Given the description of an element on the screen output the (x, y) to click on. 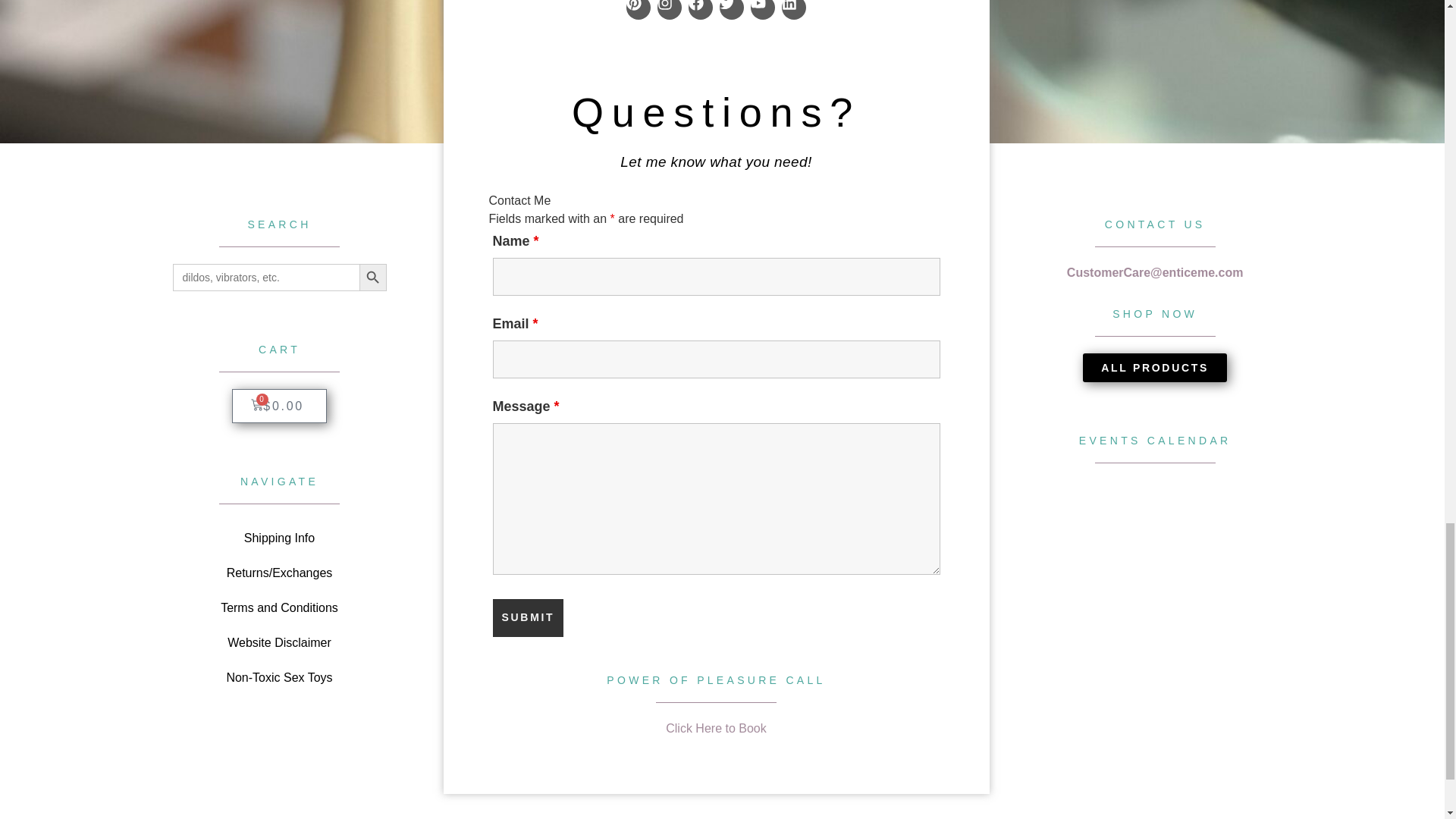
Submit (528, 617)
